Given the description of an element on the screen output the (x, y) to click on. 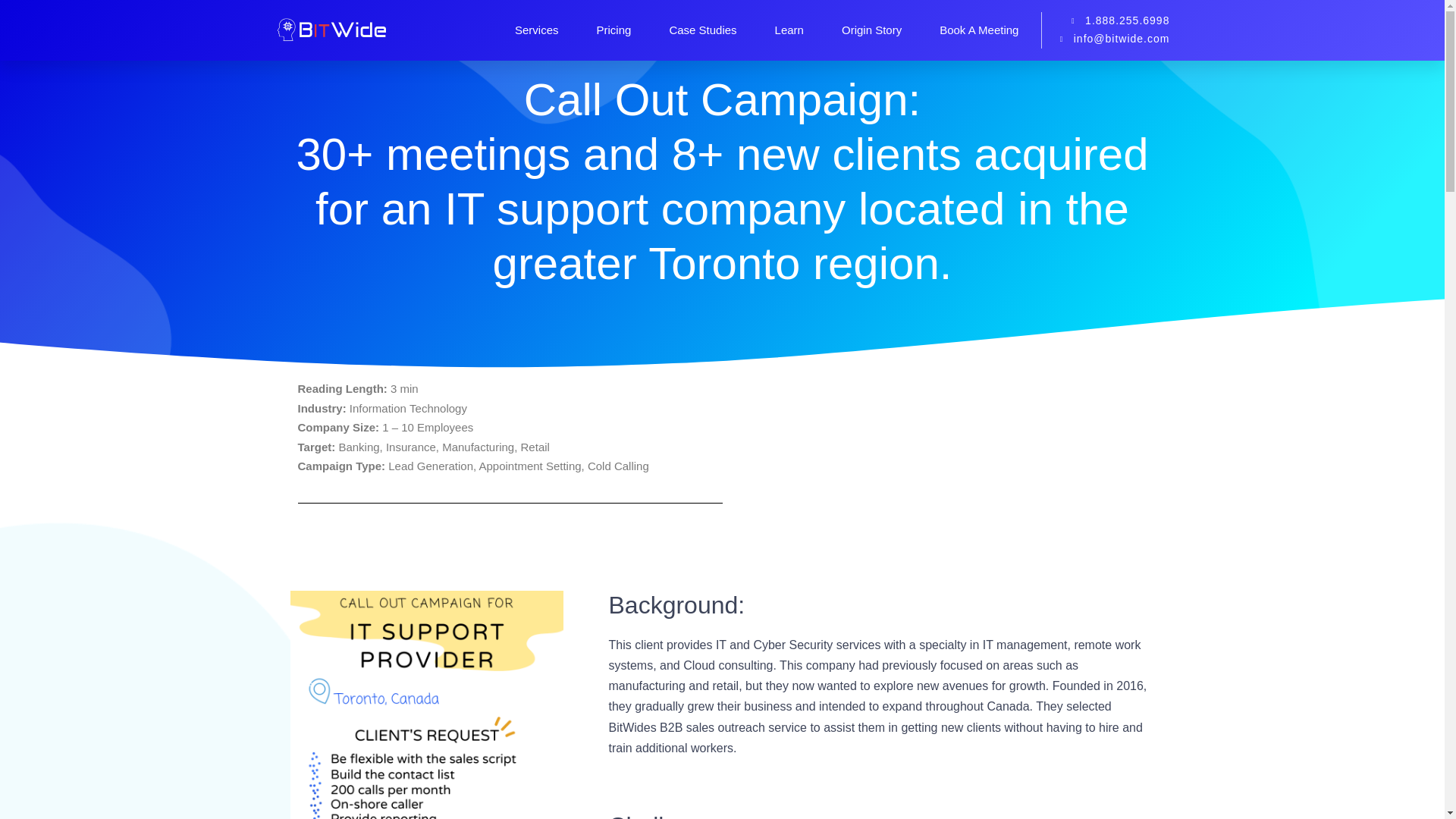
Book A Meeting (978, 29)
Origin Story (871, 29)
Services (537, 29)
Pricing (613, 29)
Learn (788, 29)
Case Studies (702, 29)
